Given the description of an element on the screen output the (x, y) to click on. 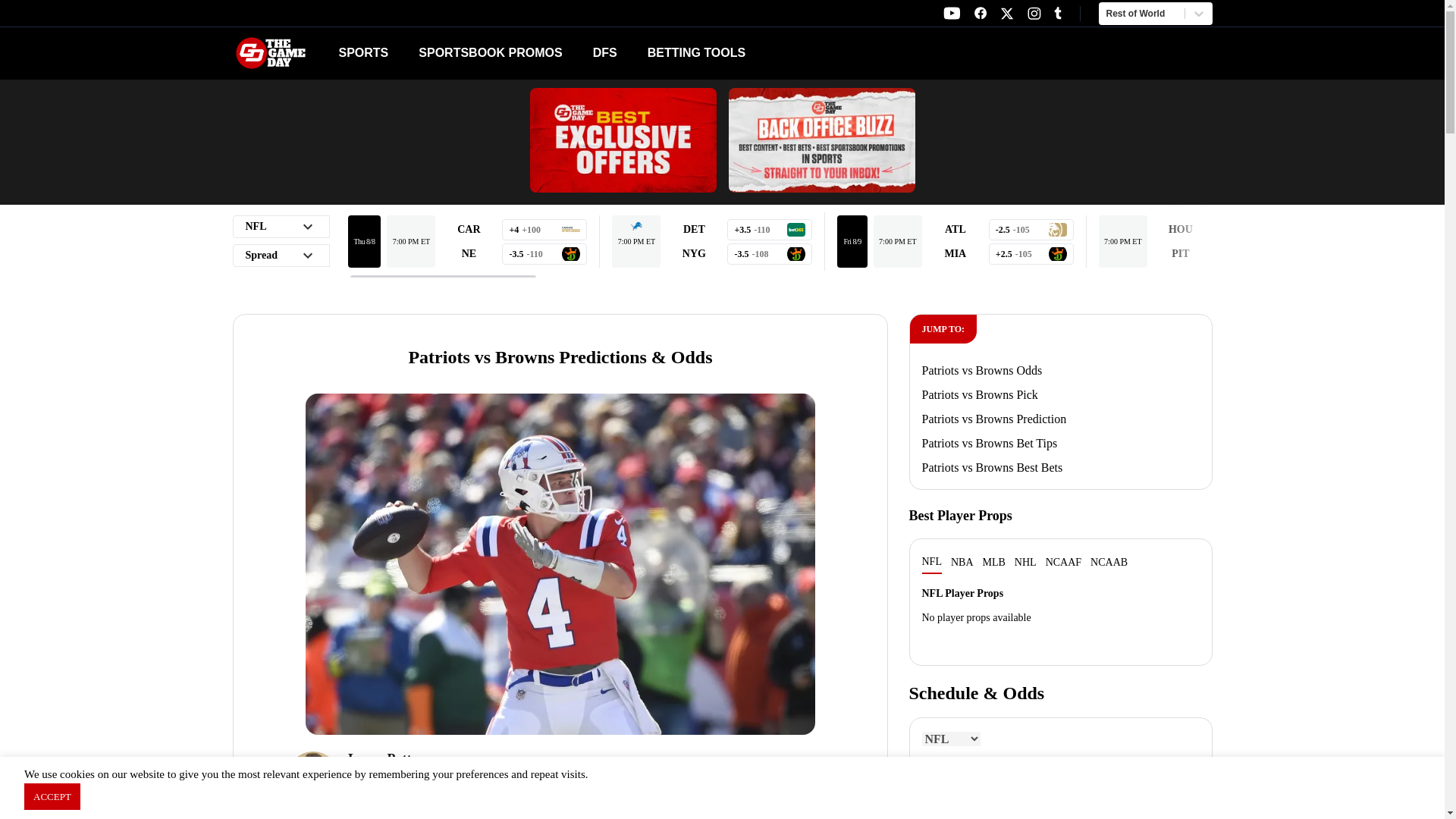
Patriots vs Browns Prediction (994, 418)
Patriots vs Browns Odds (981, 369)
TGD Instagram Profile (1034, 12)
Patriots vs Browns Best Bets (991, 467)
Patriots vs Browns Pick (758, 53)
TGD Facebook Page (979, 394)
TGD X Profile (980, 12)
SPORTS (1006, 13)
TGD Youtube Channel (362, 51)
Patriots vs Browns Bet Tips (951, 12)
